Given the description of an element on the screen output the (x, y) to click on. 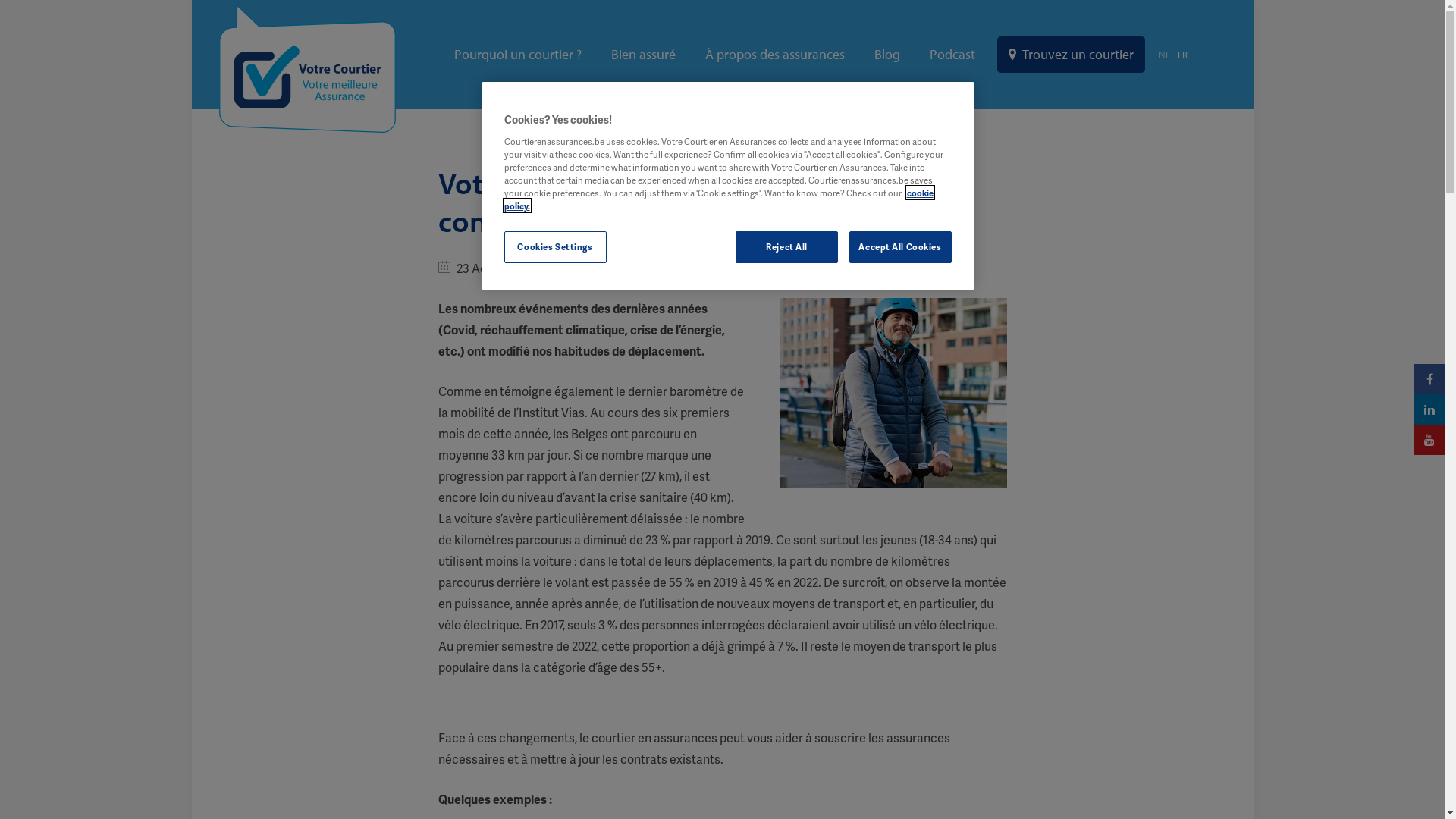
FR Element type: text (1181, 54)
Accept All Cookies Element type: text (900, 247)
NL Element type: text (1164, 54)
Podcast Element type: text (952, 54)
cookie policy. Element type: text (717, 198)
Reject All Element type: text (786, 247)
Trouvez un courtier Element type: text (1070, 54)
Blog Element type: text (886, 54)
Pourquoi un courtier ? Element type: text (516, 54)
Cookies Settings Element type: text (554, 247)
